Given the description of an element on the screen output the (x, y) to click on. 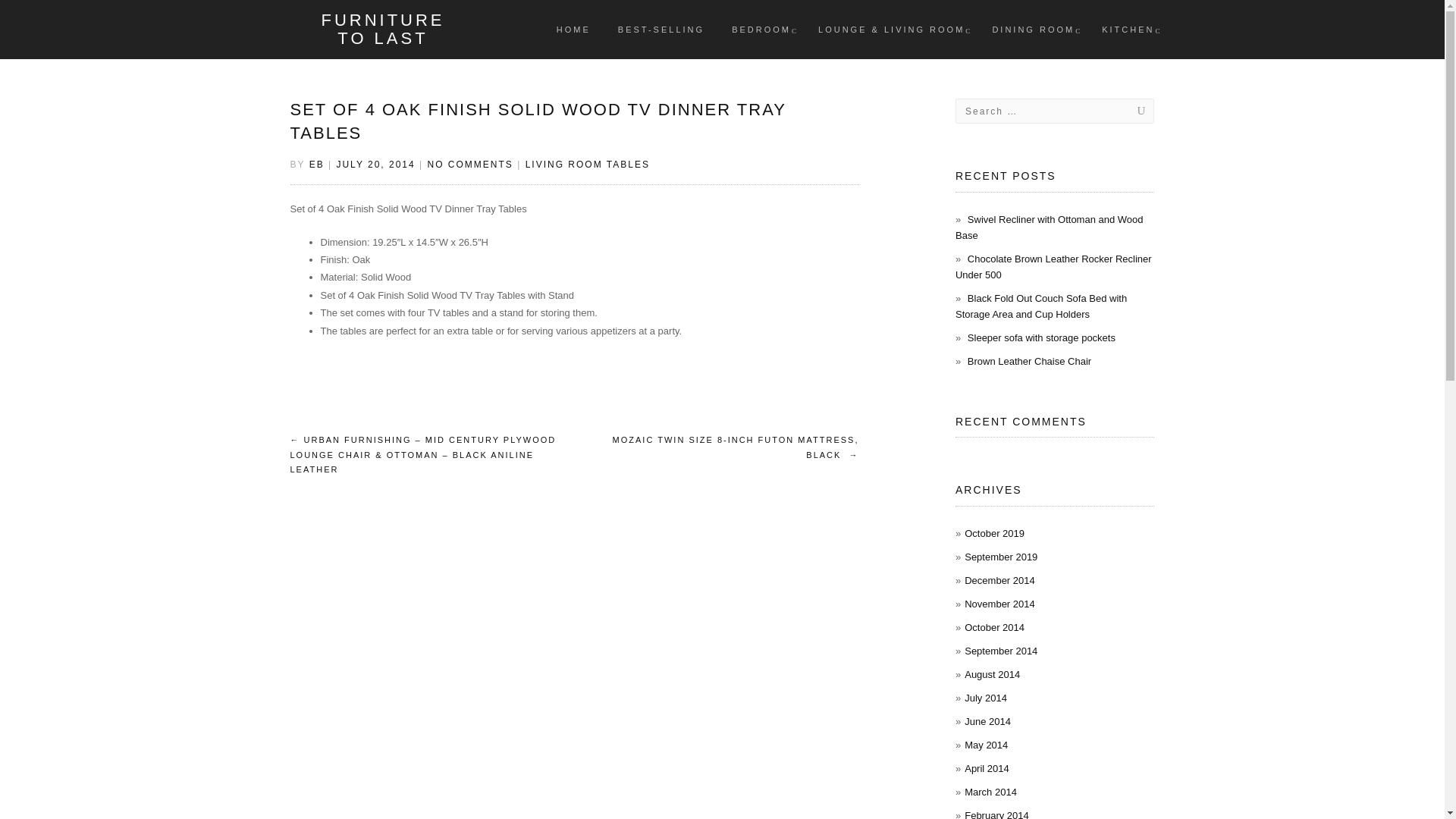
SET OF 4 OAK FINISH SOLID WOOD TV DINNER TRAY TABLES (537, 120)
FURNITURE TO LAST (382, 29)
Swivel Recliner with Ottoman and Wood Base (1048, 226)
BEDROOM (761, 29)
Search (1125, 110)
Sleeper sofa with storage pockets (1041, 337)
EB (316, 163)
BEST-SELLING (661, 29)
Furniture To Last (382, 29)
HOME (573, 29)
View all posts in Living Room Tables (587, 163)
LIVING ROOM TABLES (587, 163)
JULY 20, 2014 (375, 163)
KITCHEN (1128, 29)
